Given the description of an element on the screen output the (x, y) to click on. 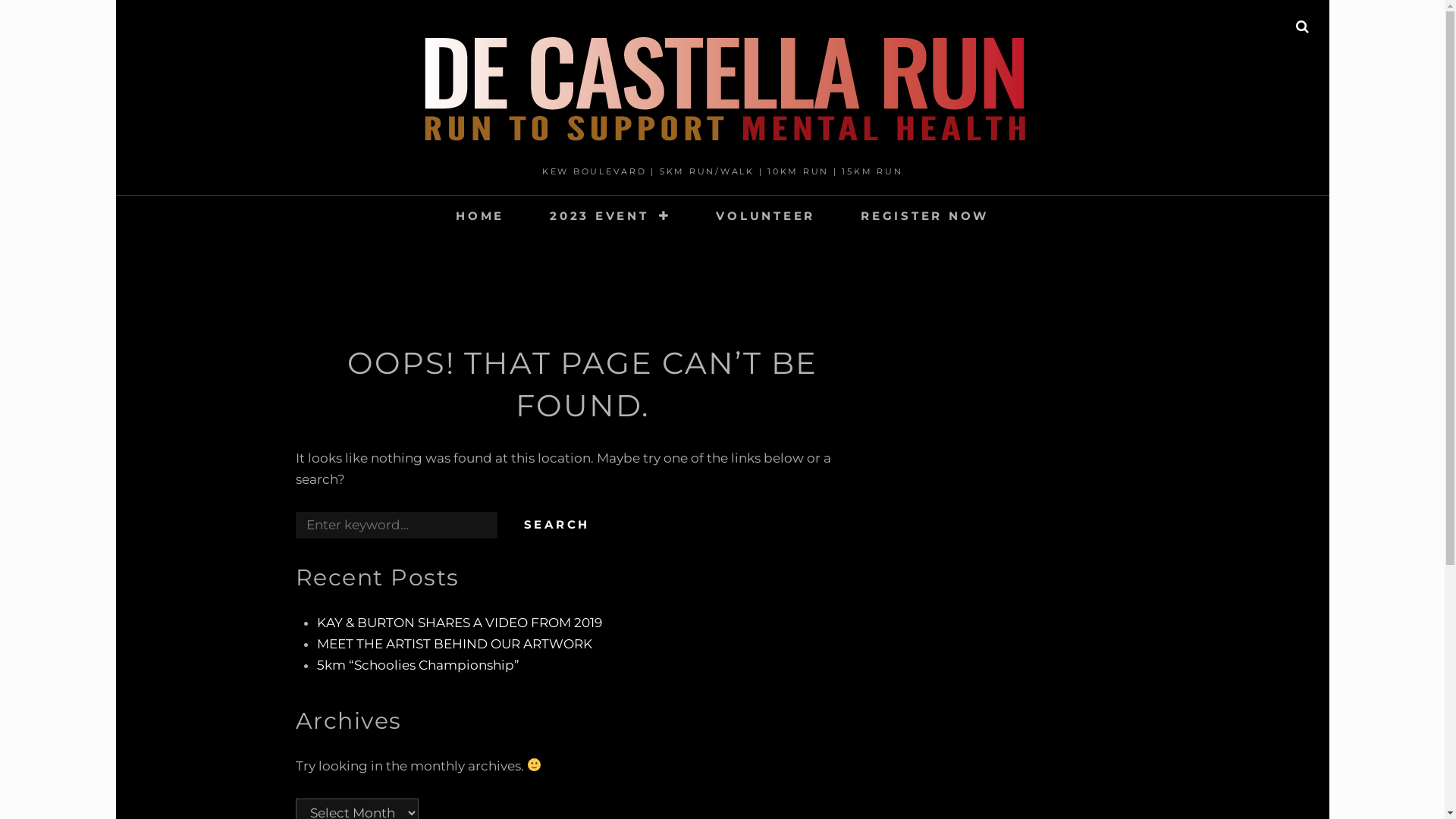
MEET THE ARTIST BEHIND OUR ARTWORK Element type: text (454, 643)
KAY & BURTON SHARES A VIDEO FROM 2019 Element type: text (459, 622)
VOLUNTEER Element type: text (765, 215)
SEARCH Element type: text (557, 524)
REGISTER NOW Element type: text (924, 215)
HOME Element type: text (479, 215)
SEARCH Element type: text (1302, 26)
2023 EVENT Element type: text (609, 215)
